Given the description of an element on the screen output the (x, y) to click on. 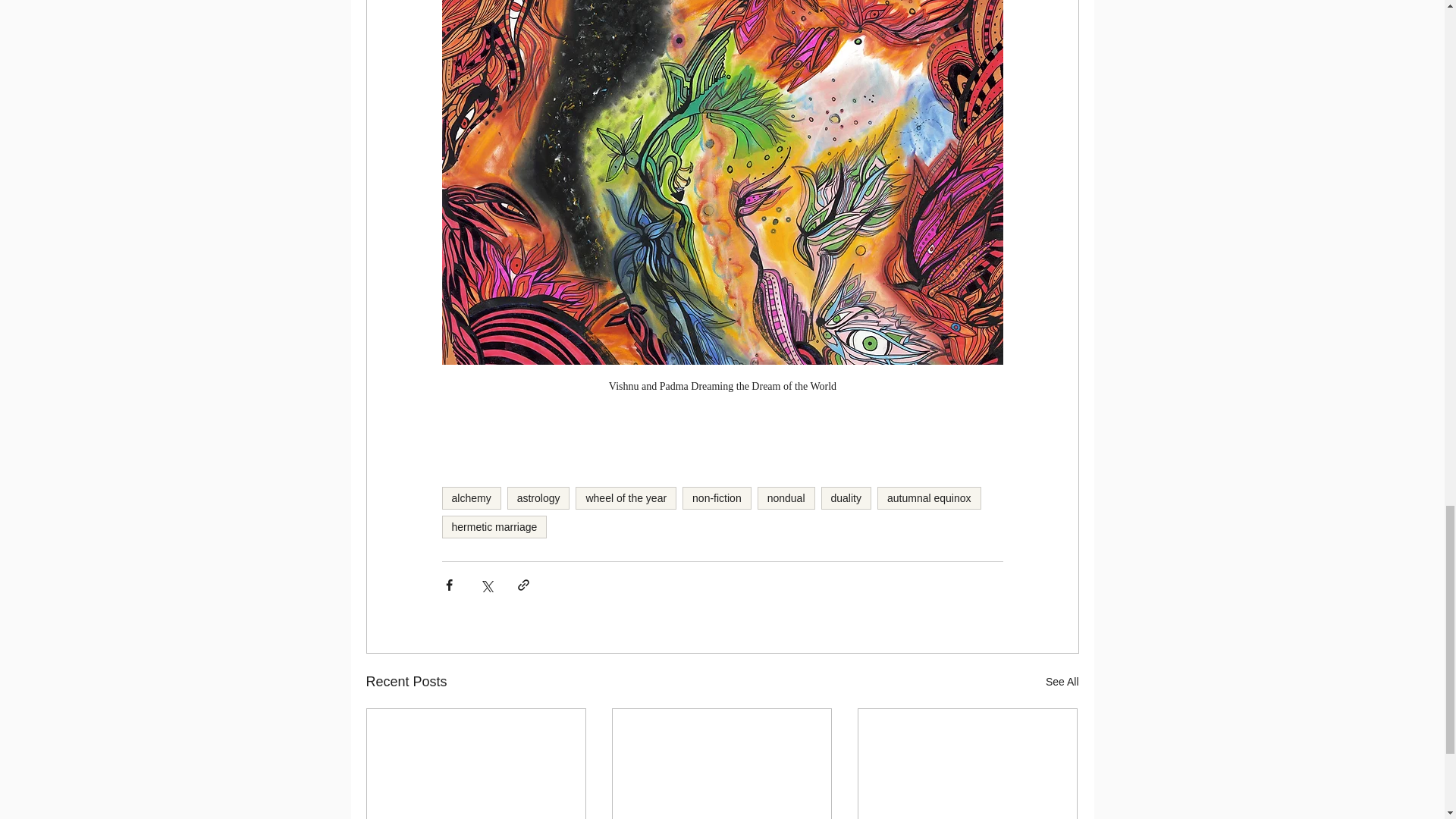
astrology (538, 497)
hermetic marriage (494, 526)
duality (845, 497)
autumnal equinox (929, 497)
See All (1061, 681)
wheel of the year (626, 497)
non-fiction (716, 497)
alchemy (470, 497)
nondual (786, 497)
